Given the description of an element on the screen output the (x, y) to click on. 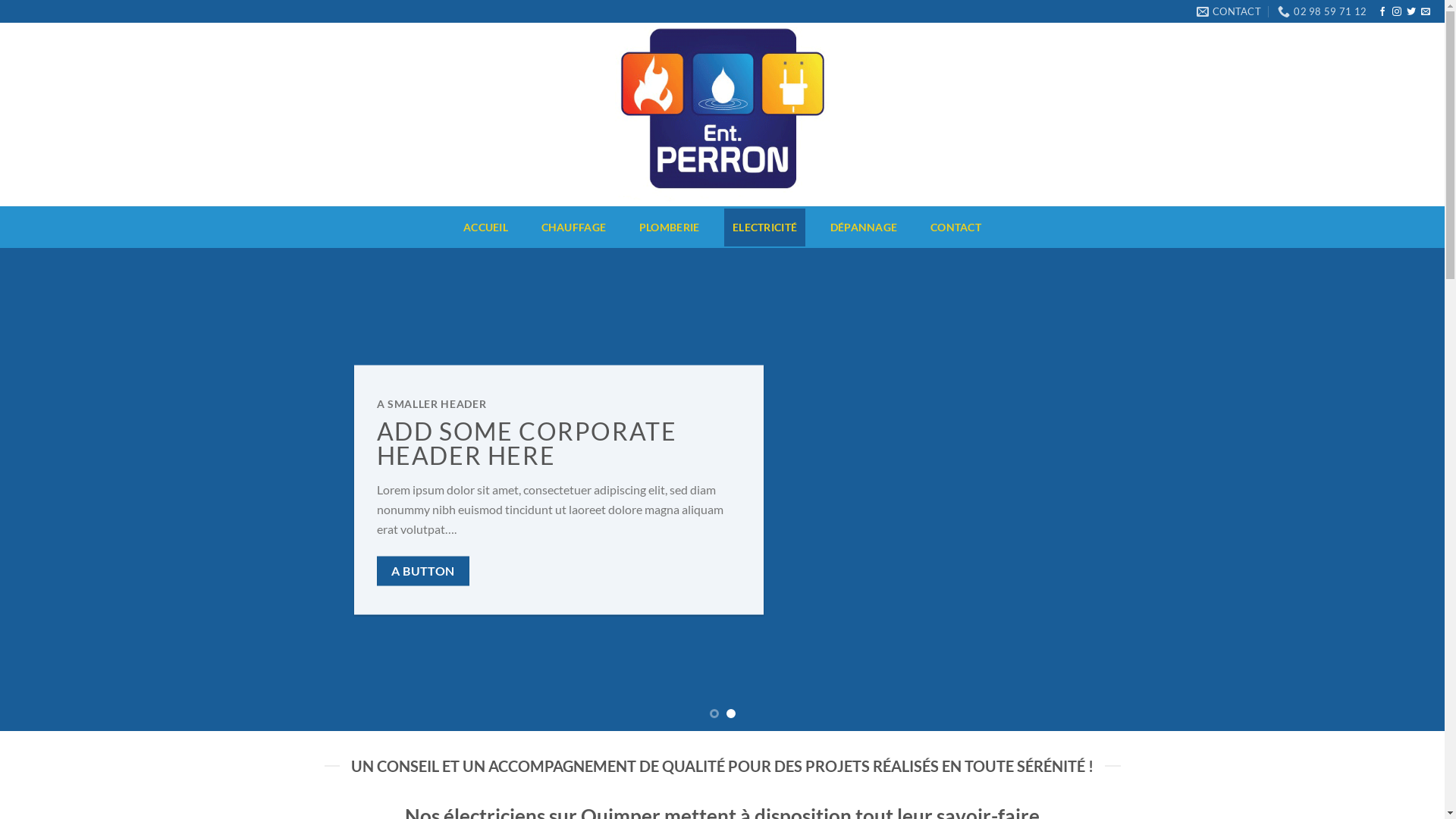
Nous suivre sur Twitter Element type: hover (1410, 11)
Nous suivre sur Facebook Element type: hover (1381, 11)
ACCUEIL Element type: text (485, 227)
CHAUFFAGE Element type: text (573, 227)
CONTACT Element type: text (955, 227)
CONTACT Element type: text (1228, 11)
Nous suivre sur Instagram Element type: hover (1396, 11)
02 98 59 71 12 Element type: text (1321, 11)
Nous envoyer un email Element type: hover (1425, 11)
PLOMBERIE Element type: text (668, 227)
